Given the description of an element on the screen output the (x, y) to click on. 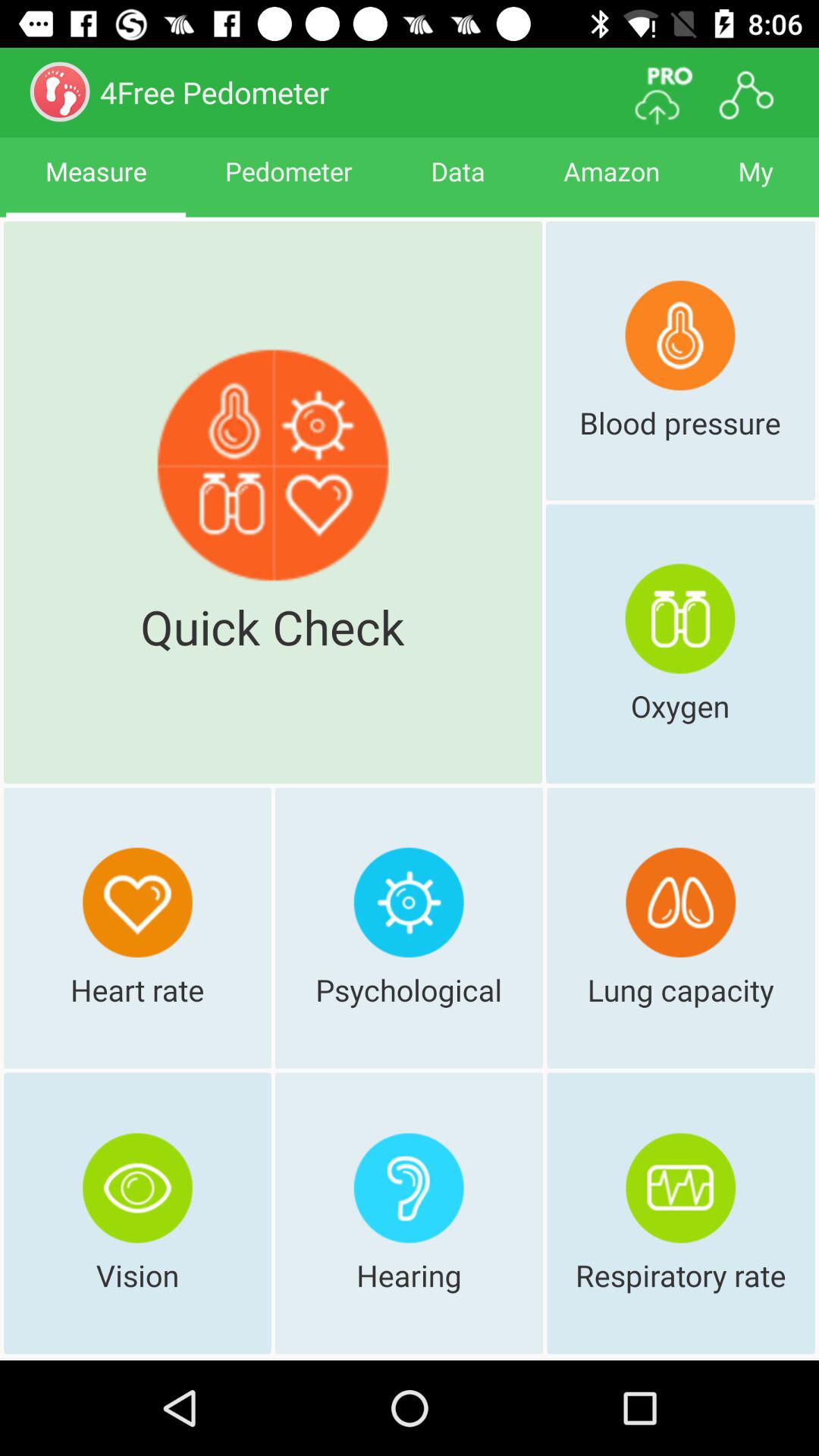
press the icon next to amazon item (457, 185)
